Given the description of an element on the screen output the (x, y) to click on. 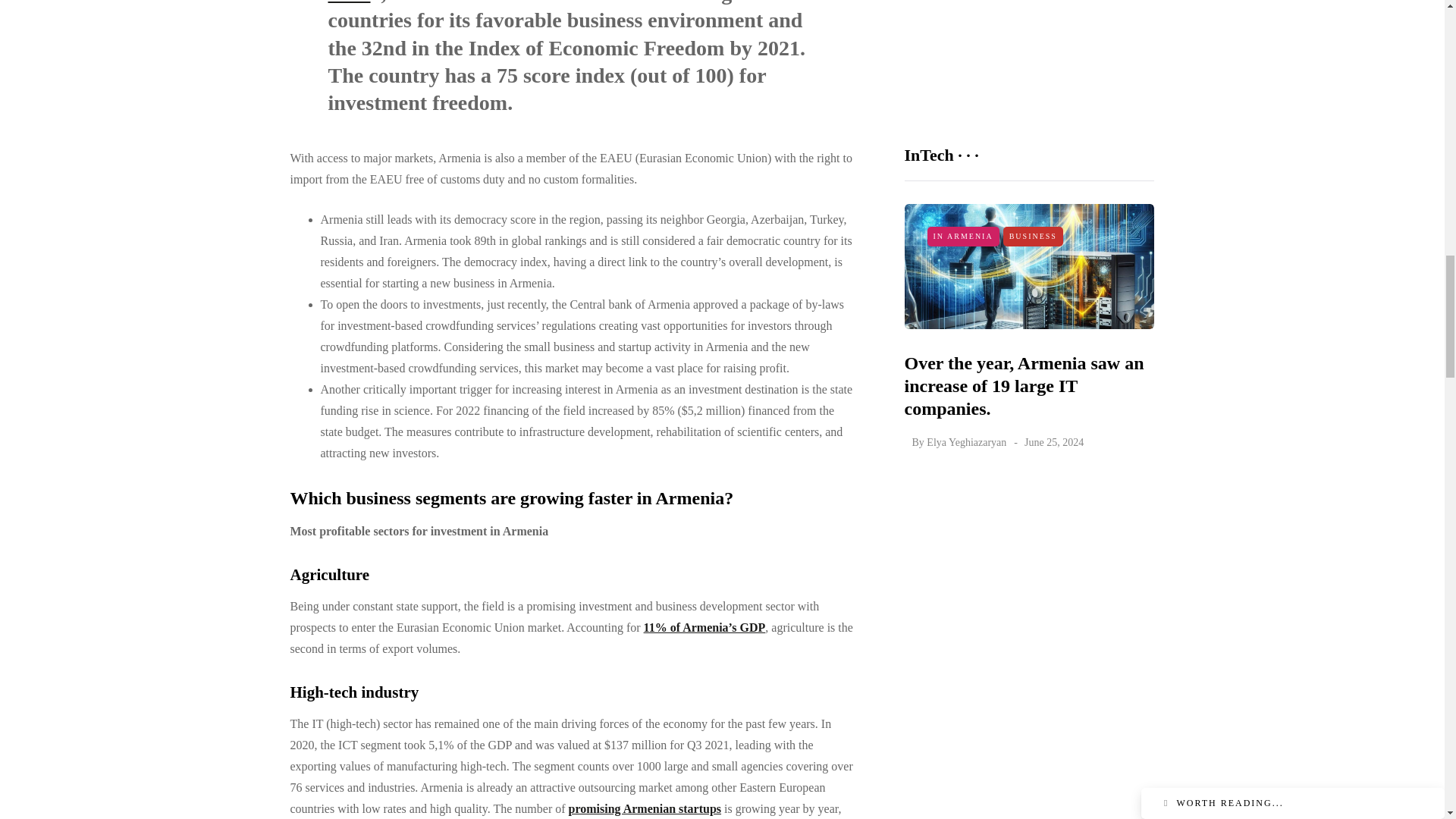
Armenian startups with great perspectives (645, 808)
